Given the description of an element on the screen output the (x, y) to click on. 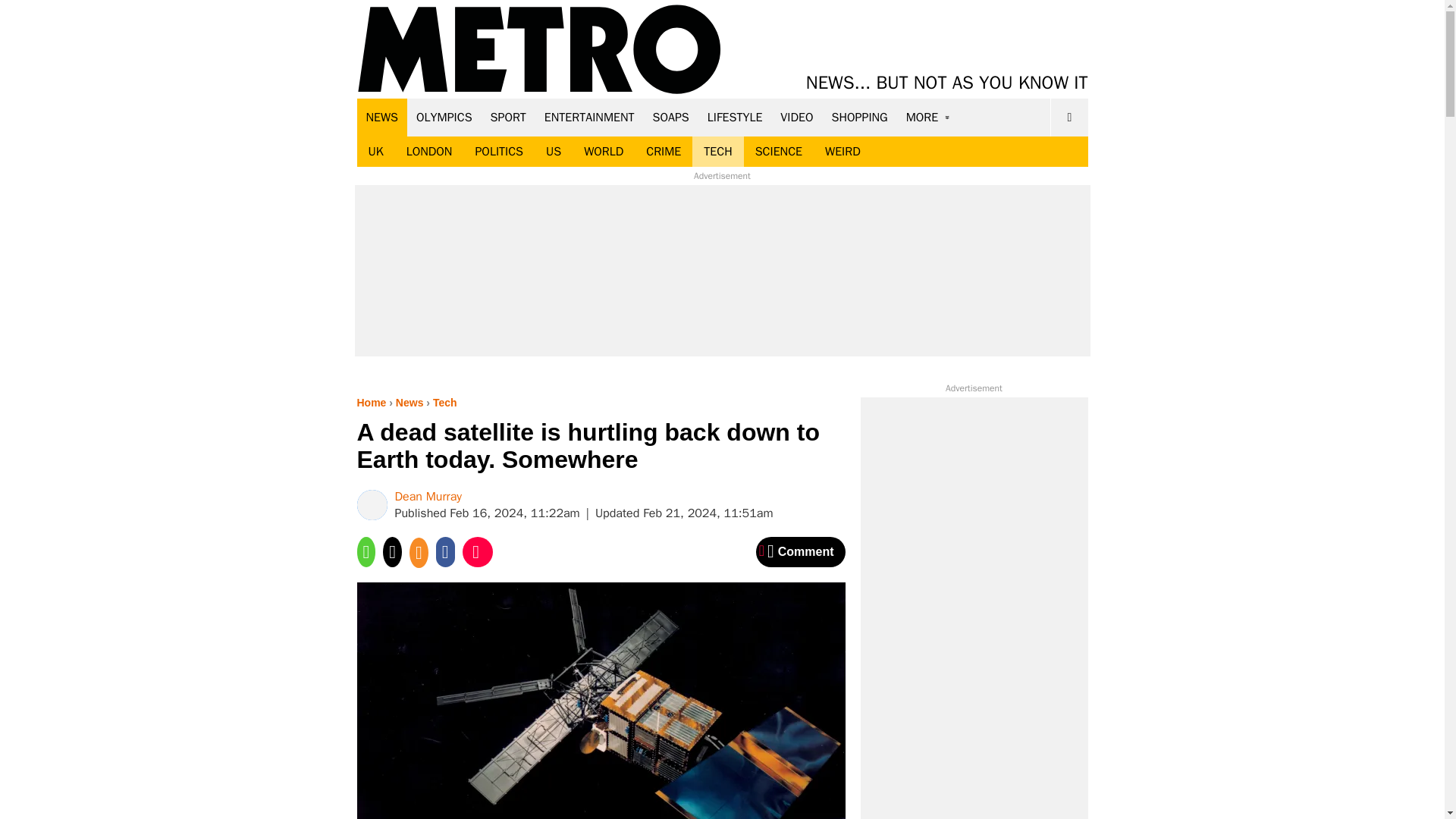
WEIRD (842, 151)
TECH (717, 151)
WORLD (603, 151)
ENTERTAINMENT (589, 117)
UK (375, 151)
SPORT (508, 117)
SOAPS (670, 117)
NEWS (381, 117)
SCIENCE (778, 151)
LIFESTYLE (734, 117)
